Given the description of an element on the screen output the (x, y) to click on. 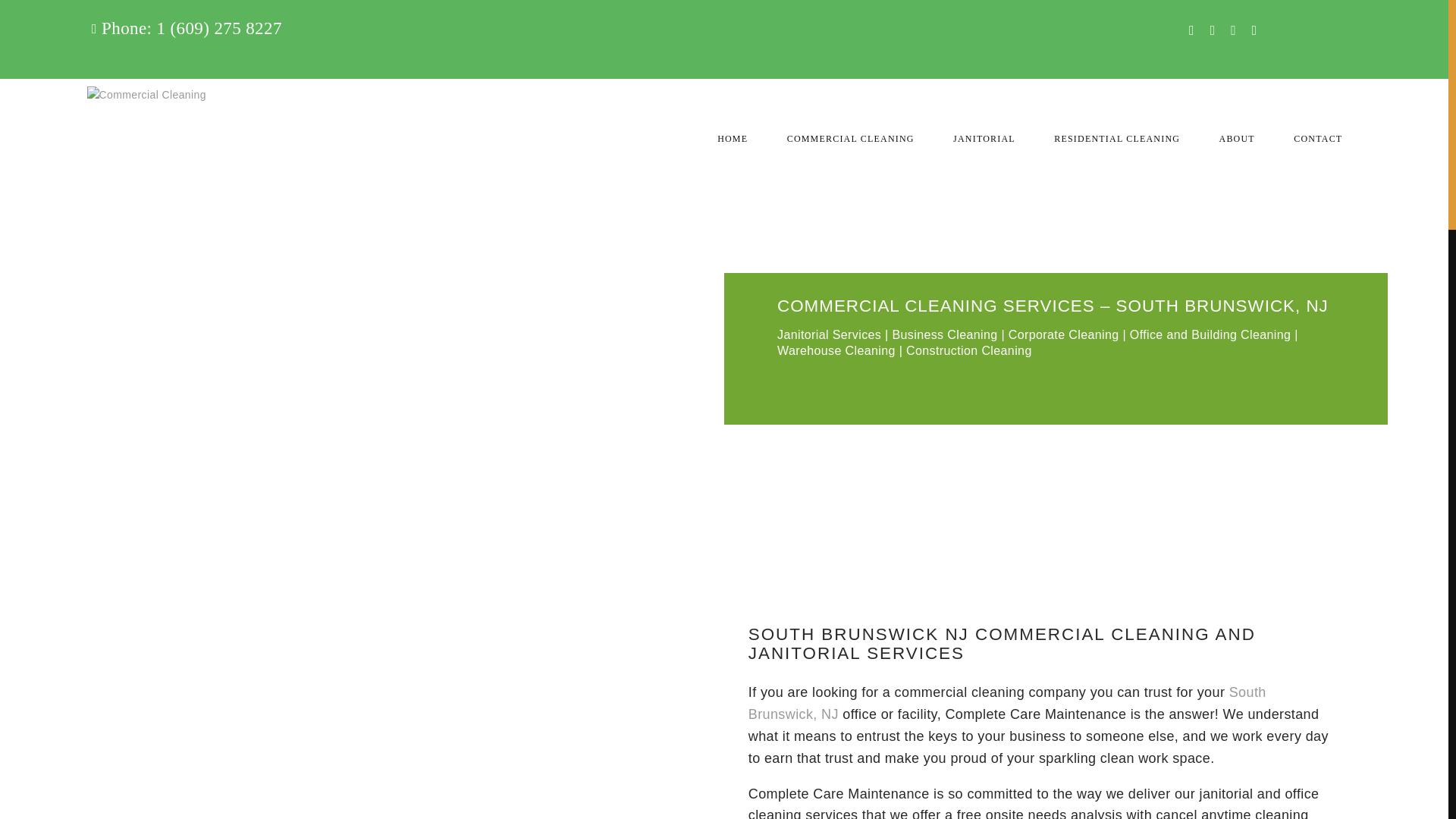
Commercial Cleaning (107, 53)
About (107, 159)
Residential Cleaning (107, 123)
Janitorial (107, 89)
South Brunswick NJ (1007, 702)
Home (107, 18)
